Given the description of an element on the screen output the (x, y) to click on. 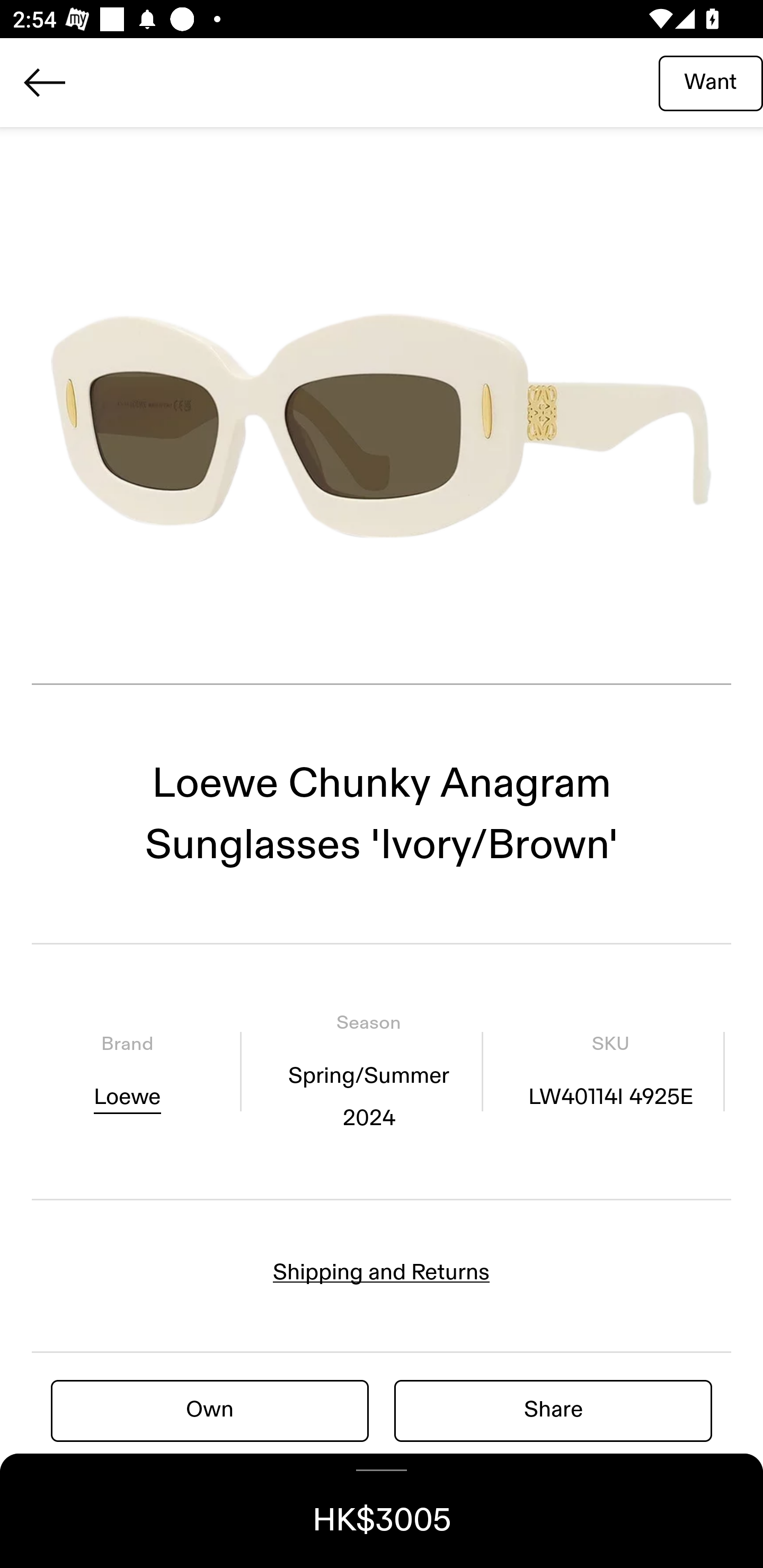
Want (710, 82)
Brand Loewe (126, 1070)
Season Spring/Summer 2024 (368, 1070)
SKU LW40114I 4925E (609, 1070)
Shipping and Returns (381, 1272)
Own (209, 1410)
Share (552, 1410)
HK$3005 (381, 1510)
